Given the description of an element on the screen output the (x, y) to click on. 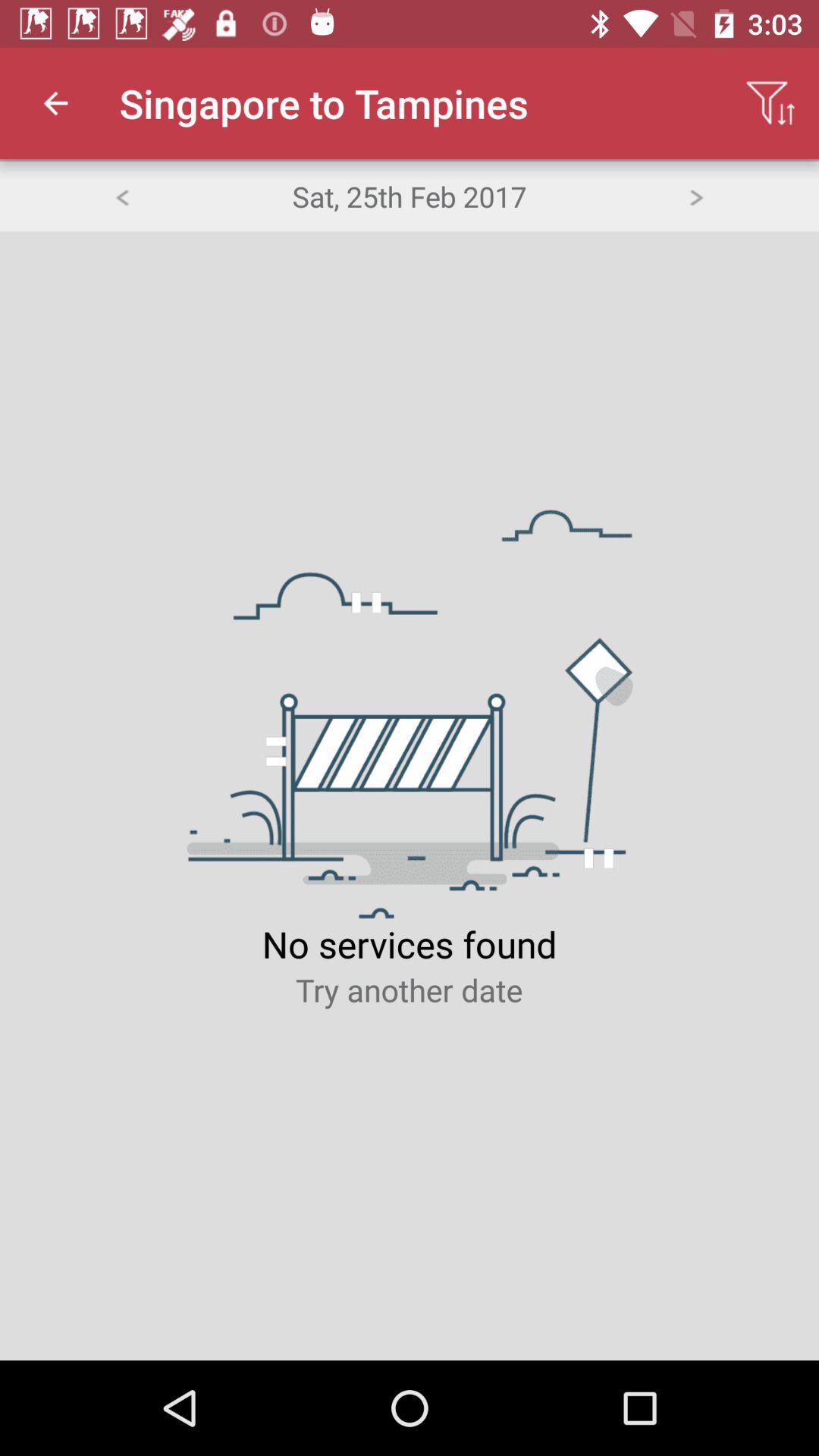
select icon to the right of the sat 25th feb icon (696, 196)
